Given the description of an element on the screen output the (x, y) to click on. 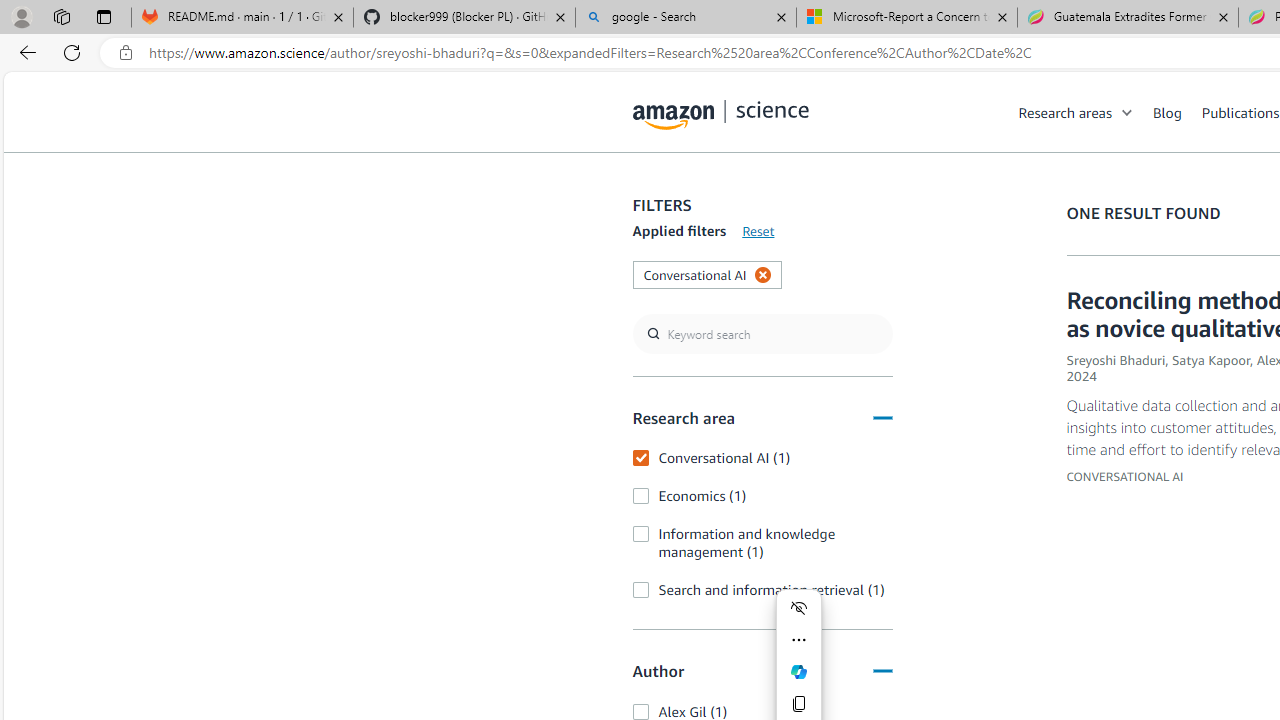
Hide menu (798, 607)
Copy (798, 704)
search (762, 333)
Satya Kapoor (1210, 360)
Tab actions menu (104, 16)
Back (24, 52)
Refresh (72, 52)
Research areas (1065, 111)
amazon-science-logo.svg (721, 115)
